Given the description of an element on the screen output the (x, y) to click on. 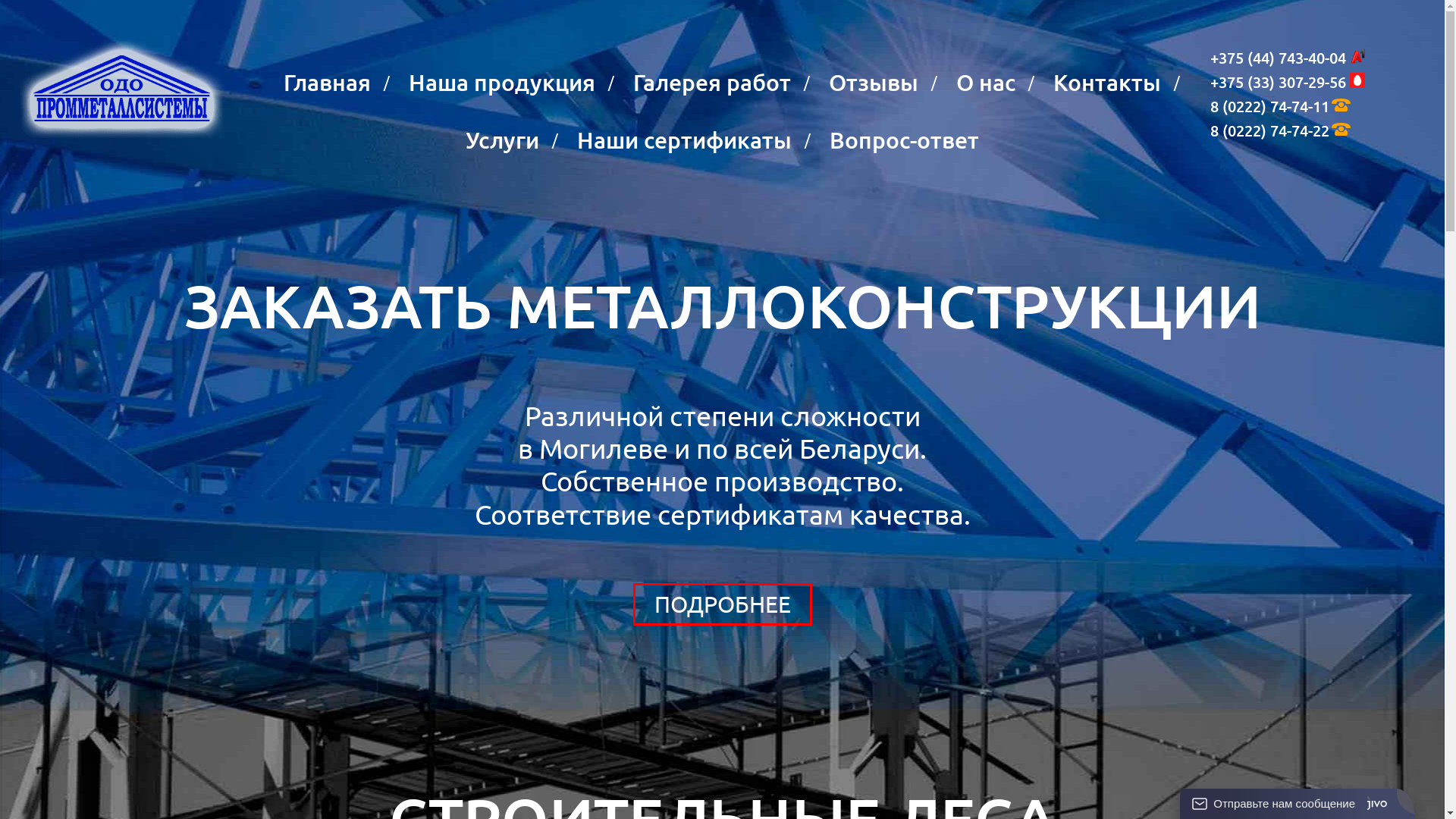
+375 (44) 743-40-04 Element type: text (1278, 57)
8 (0222) 74-74-11 Element type: text (1269, 106)
8 (0222) 74-74-22 Element type: text (1269, 130)
+375 (33) 307-29-56 Element type: text (1278, 81)
